Given the description of an element on the screen output the (x, y) to click on. 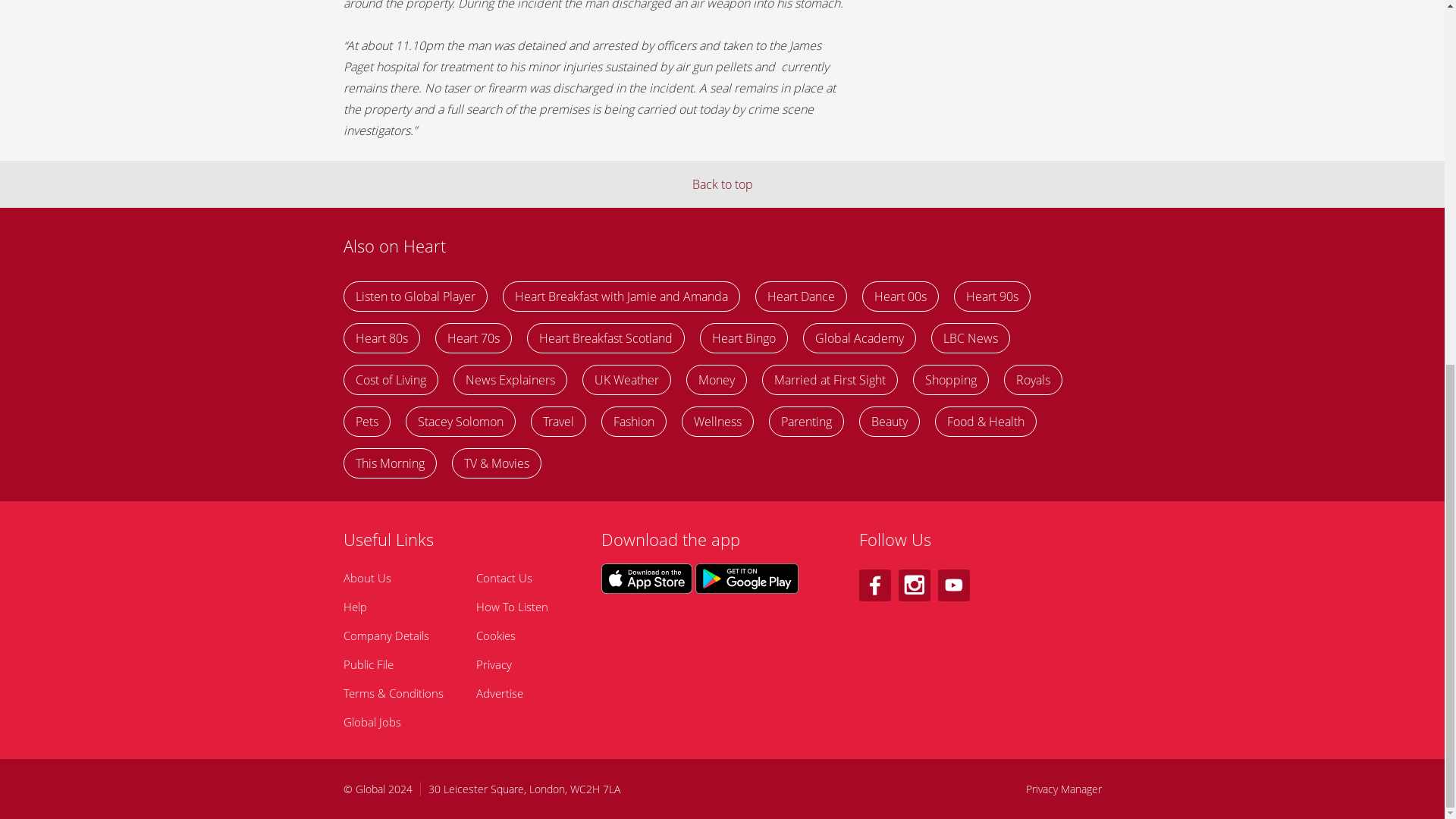
Follow Heart on Facebook (874, 585)
Follow Heart on Instagram (914, 585)
Back to top (721, 184)
Follow Heart on Youtube (953, 585)
